Given the description of an element on the screen output the (x, y) to click on. 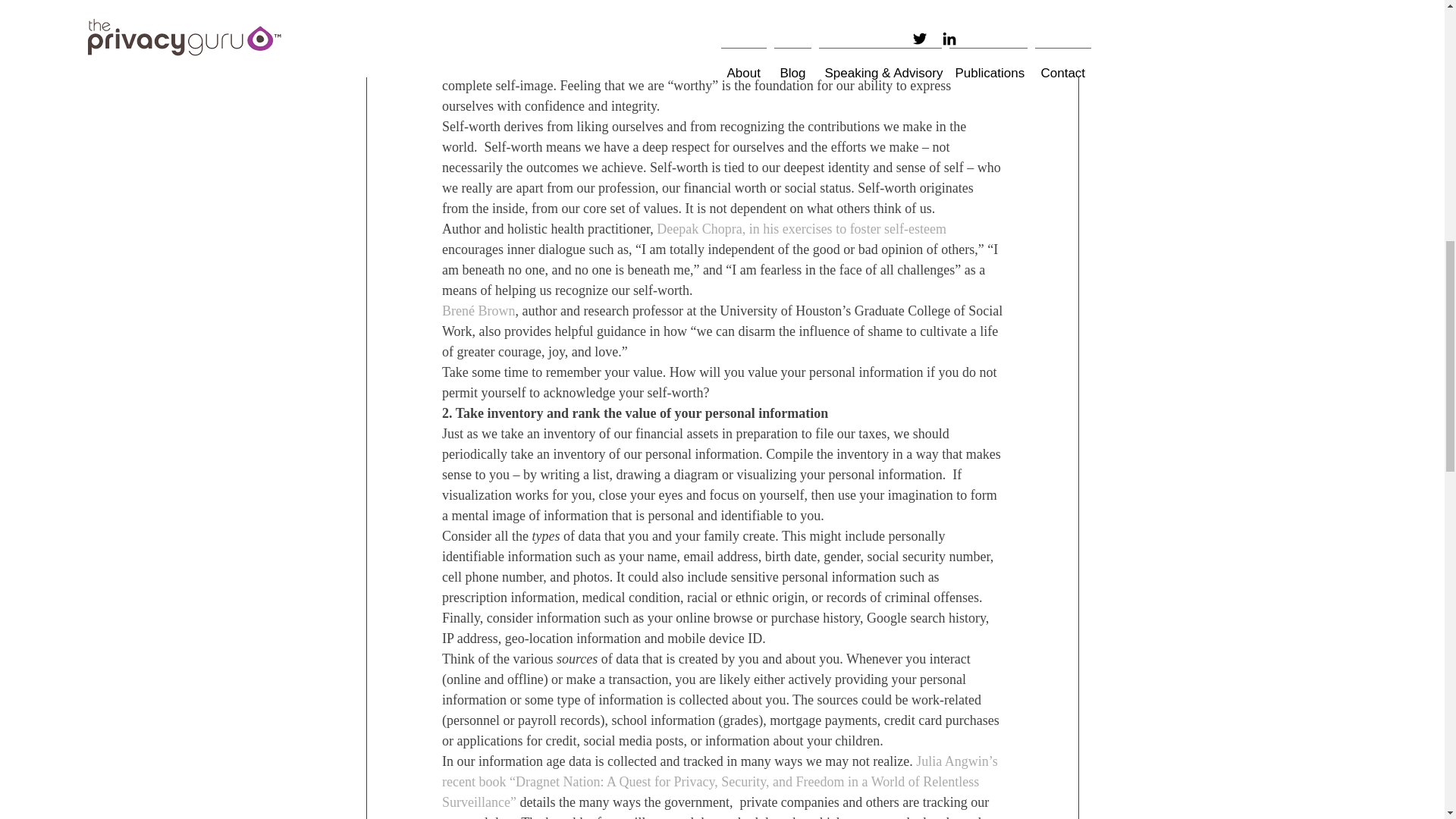
I value myself, I value my personal information. (716, 5)
Deepak Chopra, in his exercises to foster self-esteem  (802, 228)
Self-worth means (489, 44)
